Given the description of an element on the screen output the (x, y) to click on. 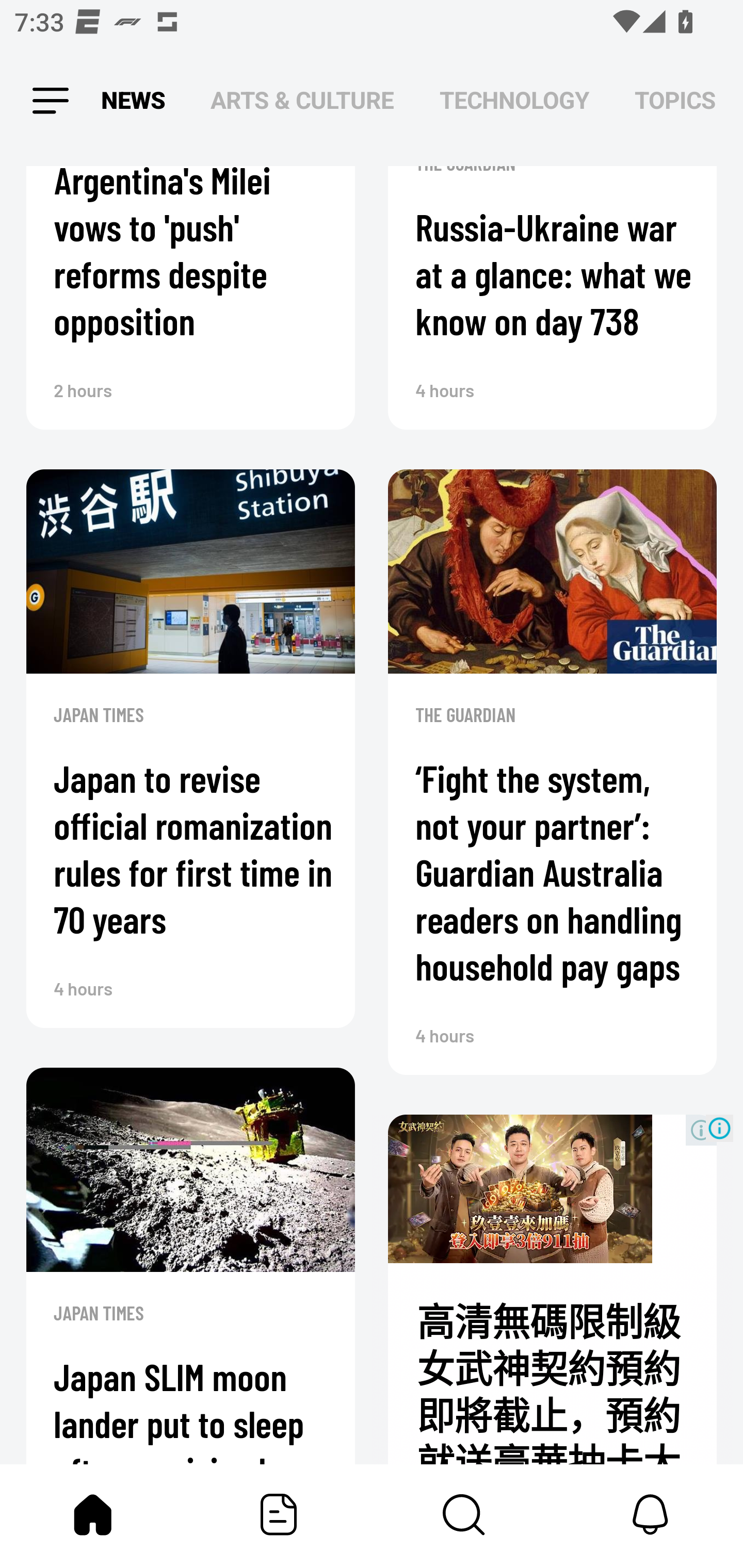
Leading Icon (48, 101)
ARTS & CULTURE (302, 100)
TECHNOLOGY (514, 100)
TOPICS (675, 100)
Ad Choices Icon (719, 1127)
Featured (278, 1514)
Content Store (464, 1514)
Notifications (650, 1514)
